Given the description of an element on the screen output the (x, y) to click on. 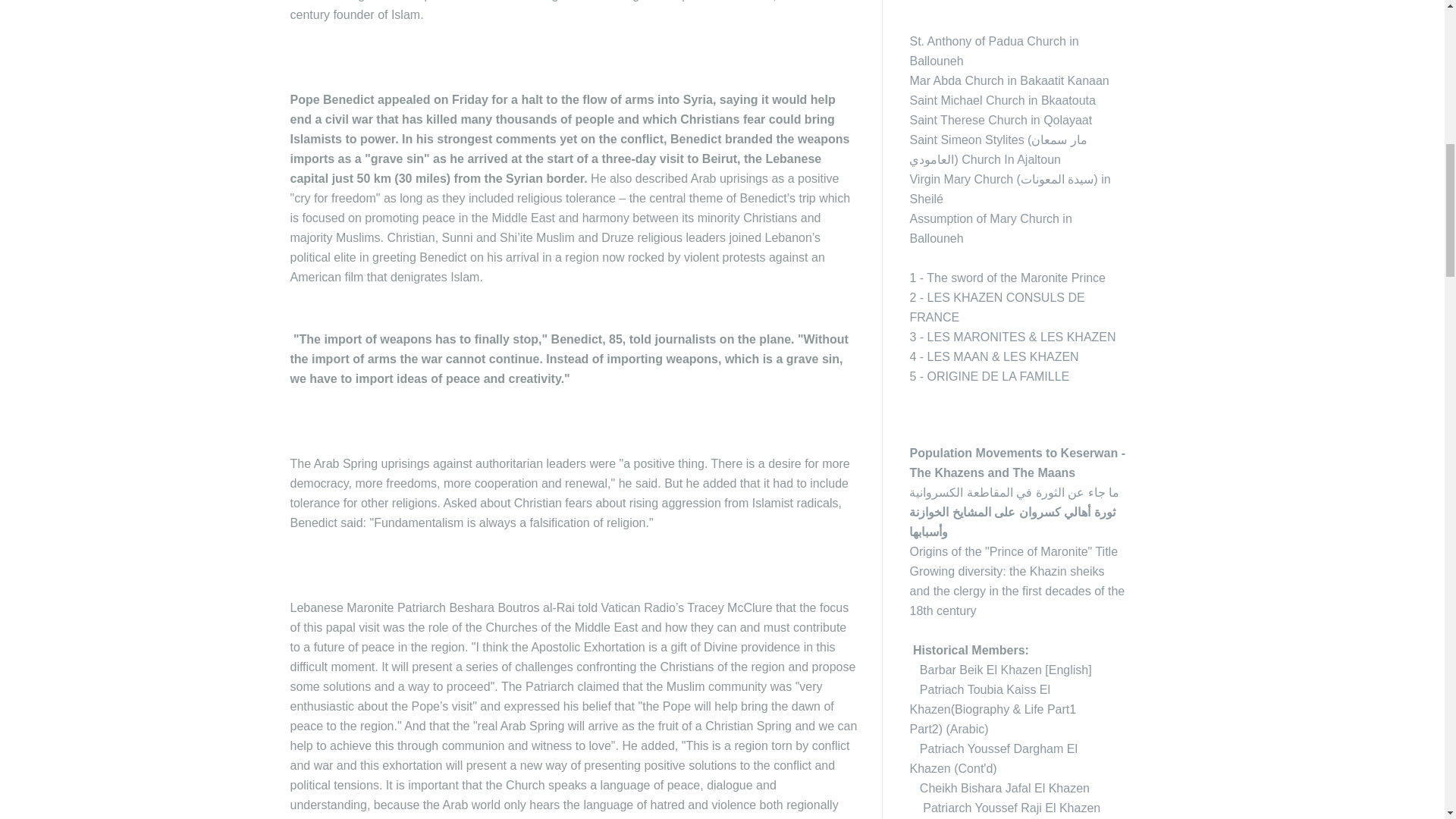
St. Anthony of Padua Church in Ballouneh (993, 51)
Saint Michael Church in Bkaatouta (1001, 100)
Assumption of Mary Church in Ballouneh (989, 228)
Mar Abda Church in Bakaatit Kanaan (1008, 80)
The sword of the Maronite Prince (1015, 277)
LES KHAZEN CONSULS DE FRANCE (996, 307)
Saint Therese Church in Qolayaat (1000, 119)
